Given the description of an element on the screen output the (x, y) to click on. 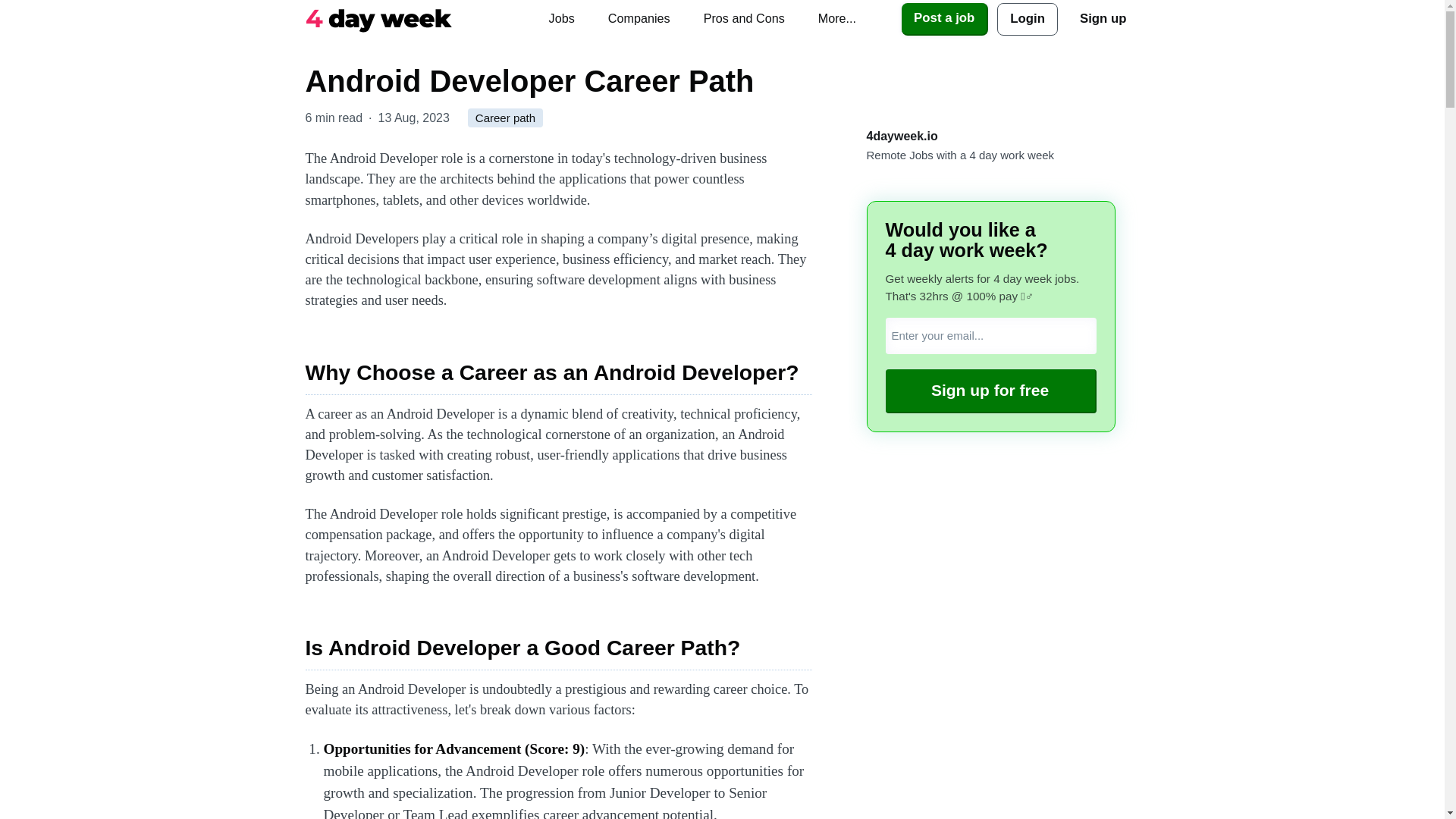
Companies (638, 18)
Pros and Cons (743, 18)
More... (836, 18)
Jobs (561, 18)
